Given the description of an element on the screen output the (x, y) to click on. 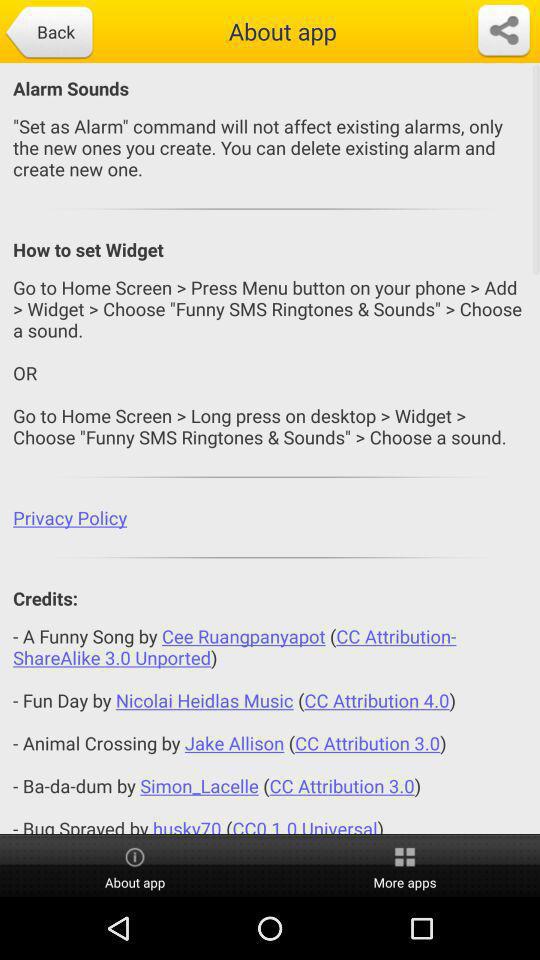
click more apps (405, 866)
